Given the description of an element on the screen output the (x, y) to click on. 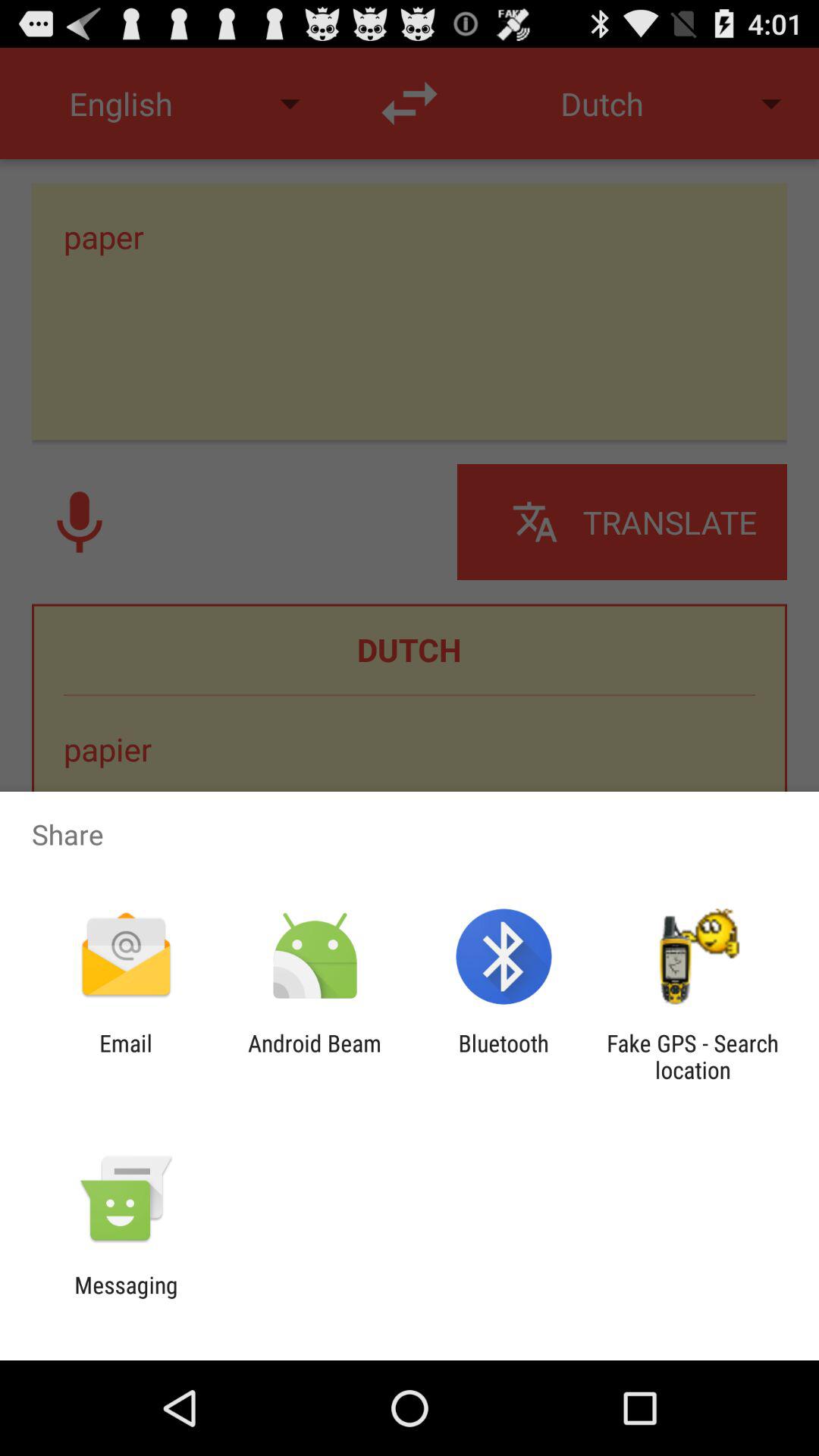
press android beam (314, 1056)
